Given the description of an element on the screen output the (x, y) to click on. 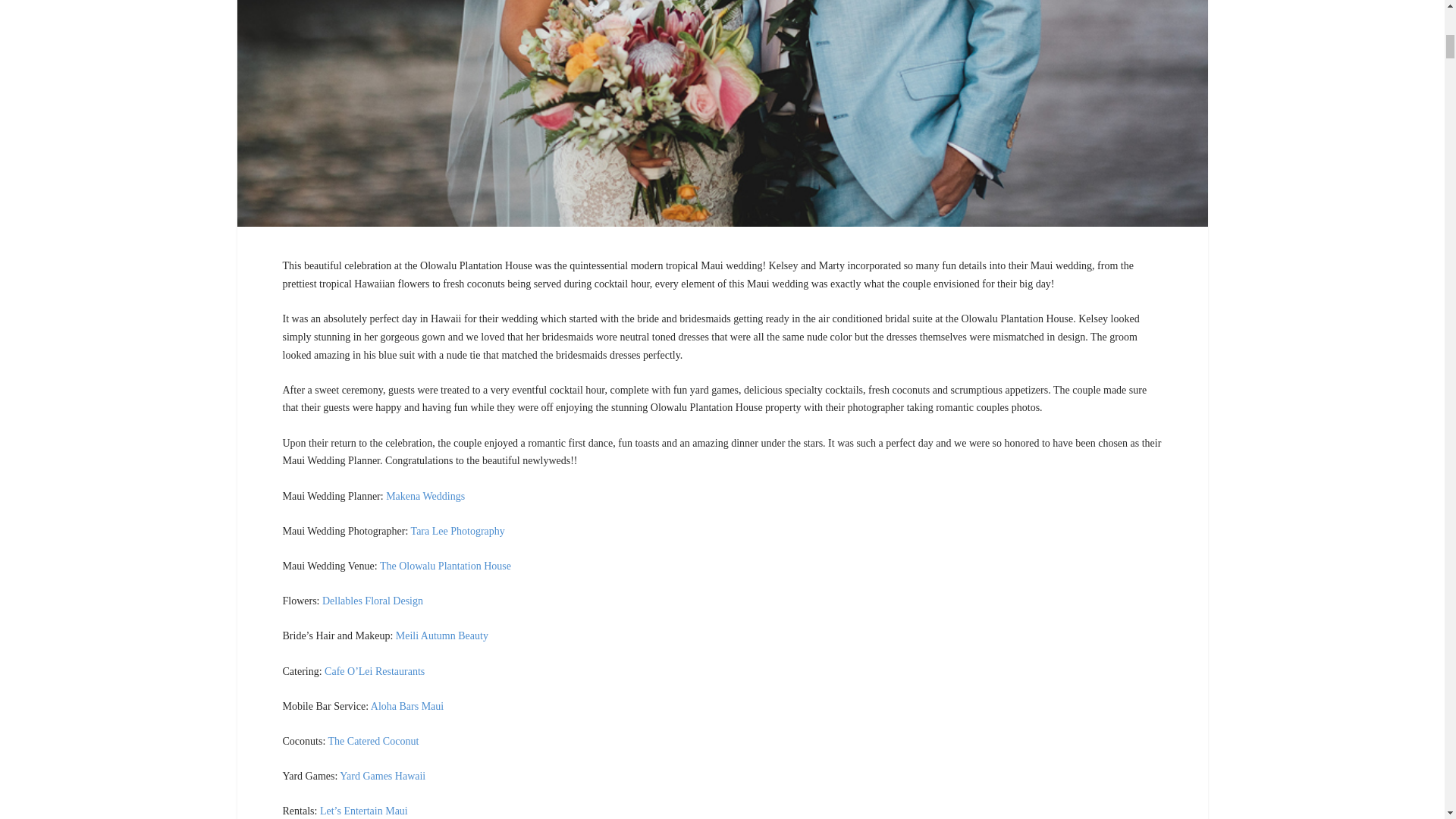
Dellables Floral Design (372, 600)
The Catered Coconut (374, 740)
The Olowalu Plantation House (445, 565)
Makena Weddings (424, 496)
Tara Lee Photography (457, 531)
Aloha Bars Maui (407, 706)
Meili Autumn Beauty (441, 635)
Yard Games Hawaii (382, 776)
